Given the description of an element on the screen output the (x, y) to click on. 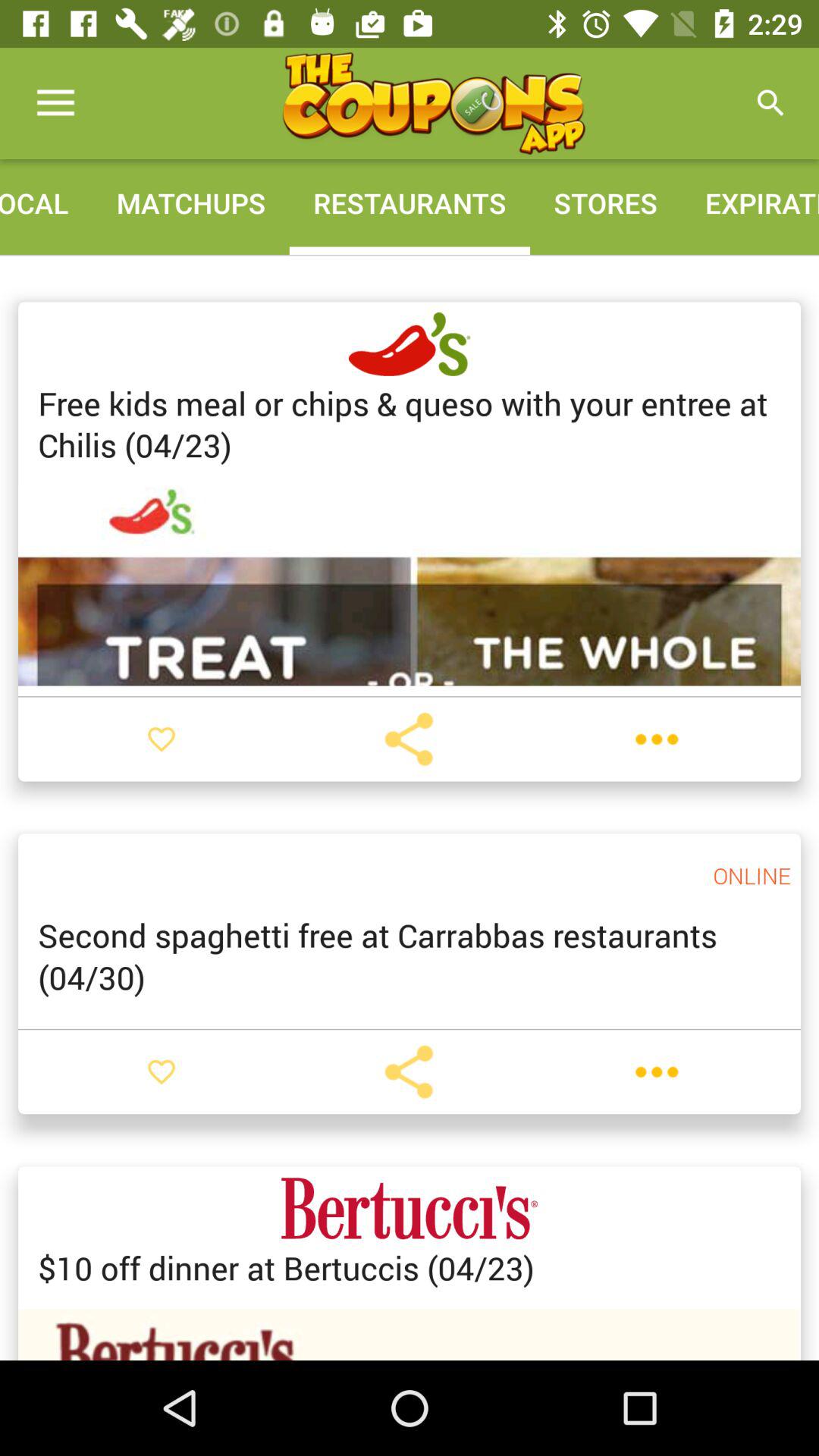
turn off the icon next to the expiration icon (432, 103)
